Given the description of an element on the screen output the (x, y) to click on. 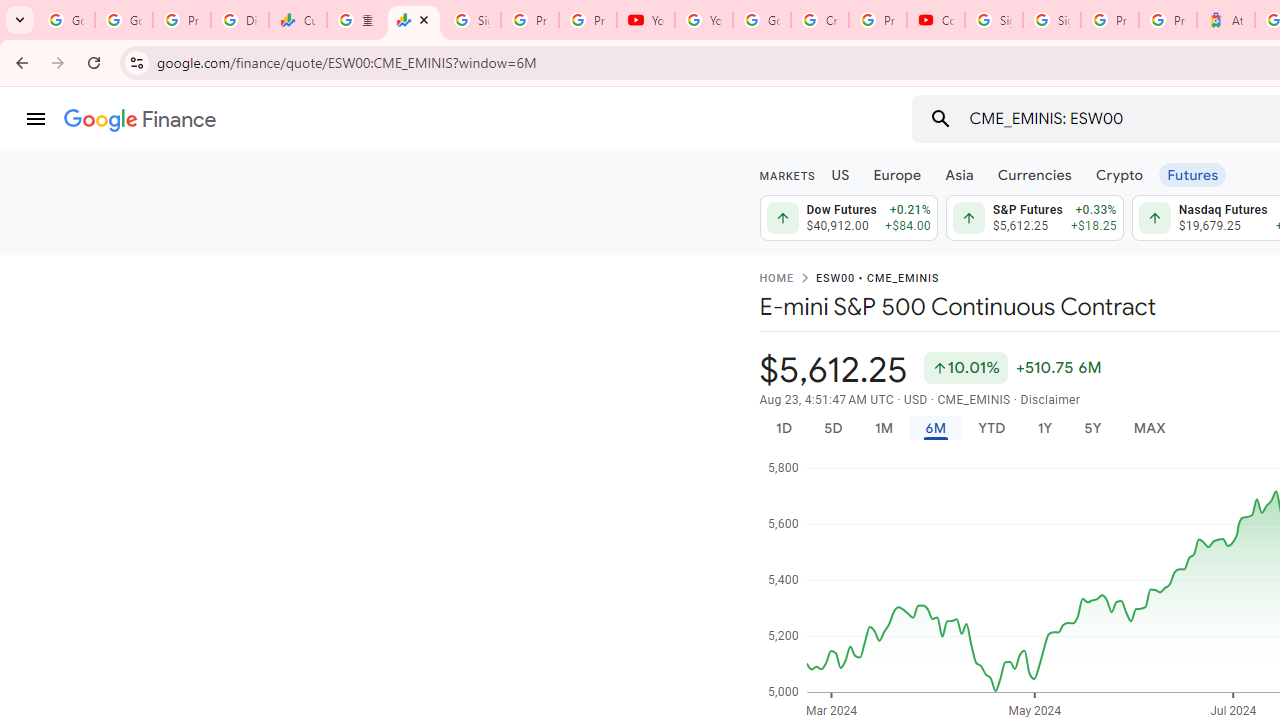
Create your Google Account (819, 20)
6M (934, 427)
Finance (140, 120)
Content Creator Programs & Opportunities - YouTube Creators (936, 20)
Google Workspace Admin Community (65, 20)
5D (832, 427)
Disclaimer (1050, 399)
